Given the description of an element on the screen output the (x, y) to click on. 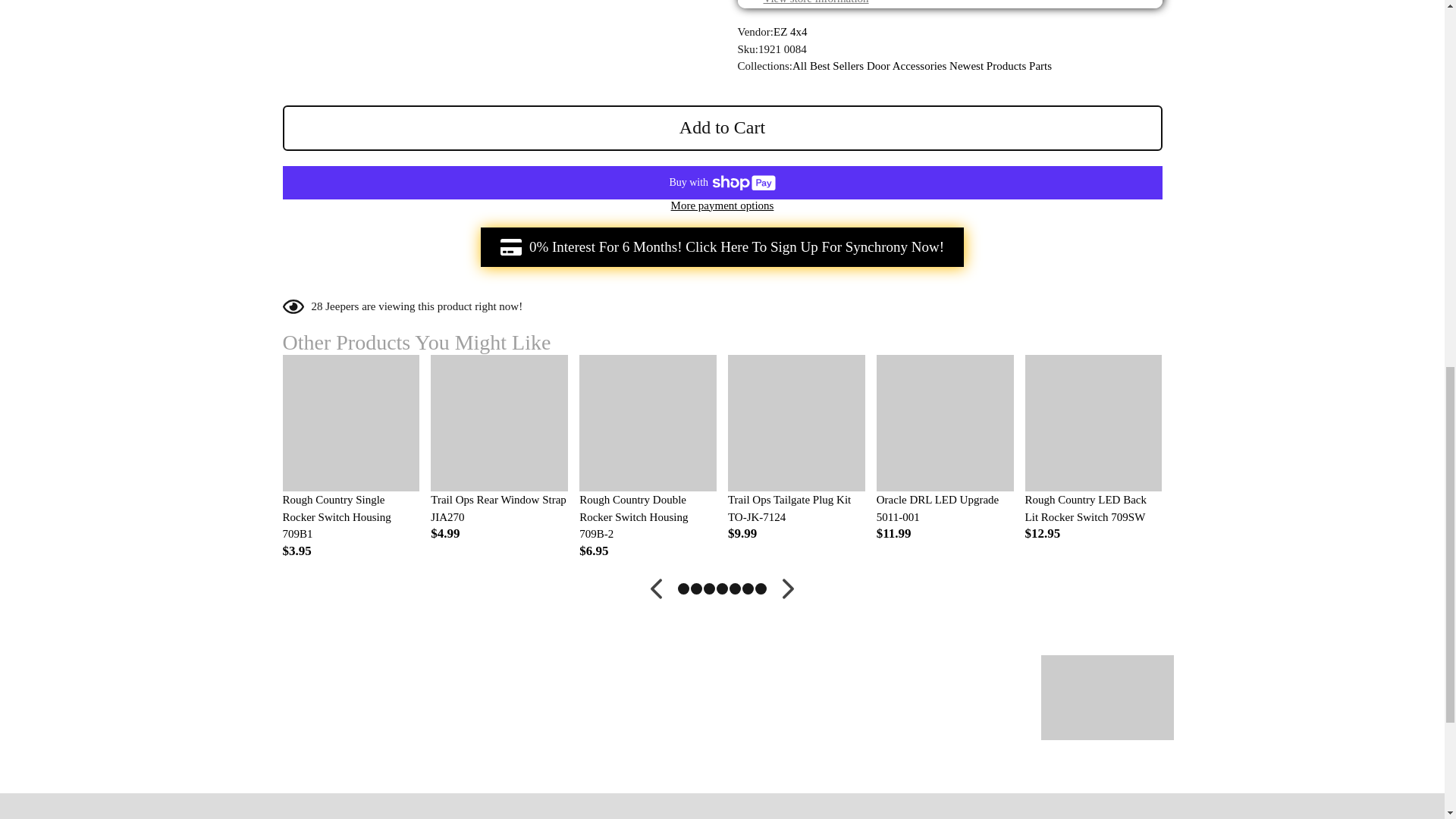
Parts (1040, 65)
More payment options (721, 205)
View store information (814, 2)
Best Sellers (836, 65)
Synchrony Car Care Sign Up (721, 246)
Newest Products (987, 65)
EZ 4x4 (790, 31)
Add to Cart (721, 127)
Door Accessories (906, 65)
Parts (1040, 65)
Best Sellers (836, 65)
All (799, 65)
Newest Products (987, 65)
All (799, 65)
Trail Ops Rear Window Strap JIA270 (498, 508)
